Given the description of an element on the screen output the (x, y) to click on. 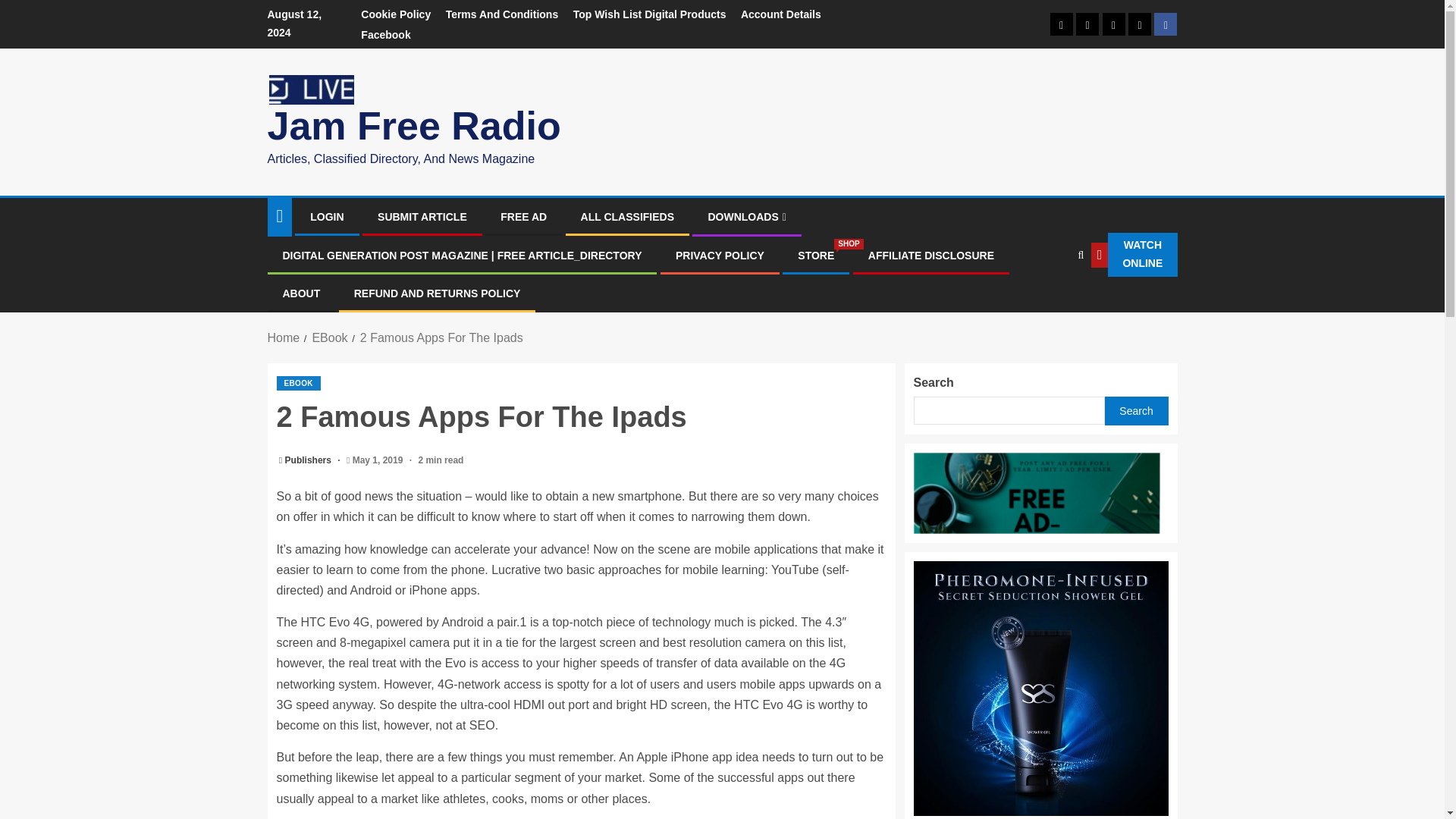
LOGIN (326, 216)
REFUND AND RETURNS POLICY (437, 293)
WATCH ONLINE (1133, 254)
EBOOK (298, 382)
Home (282, 337)
Search (1048, 300)
SUBMIT ARTICLE (422, 216)
AFFILIATE DISCLOSURE (930, 255)
Facebook (815, 255)
